Given the description of an element on the screen output the (x, y) to click on. 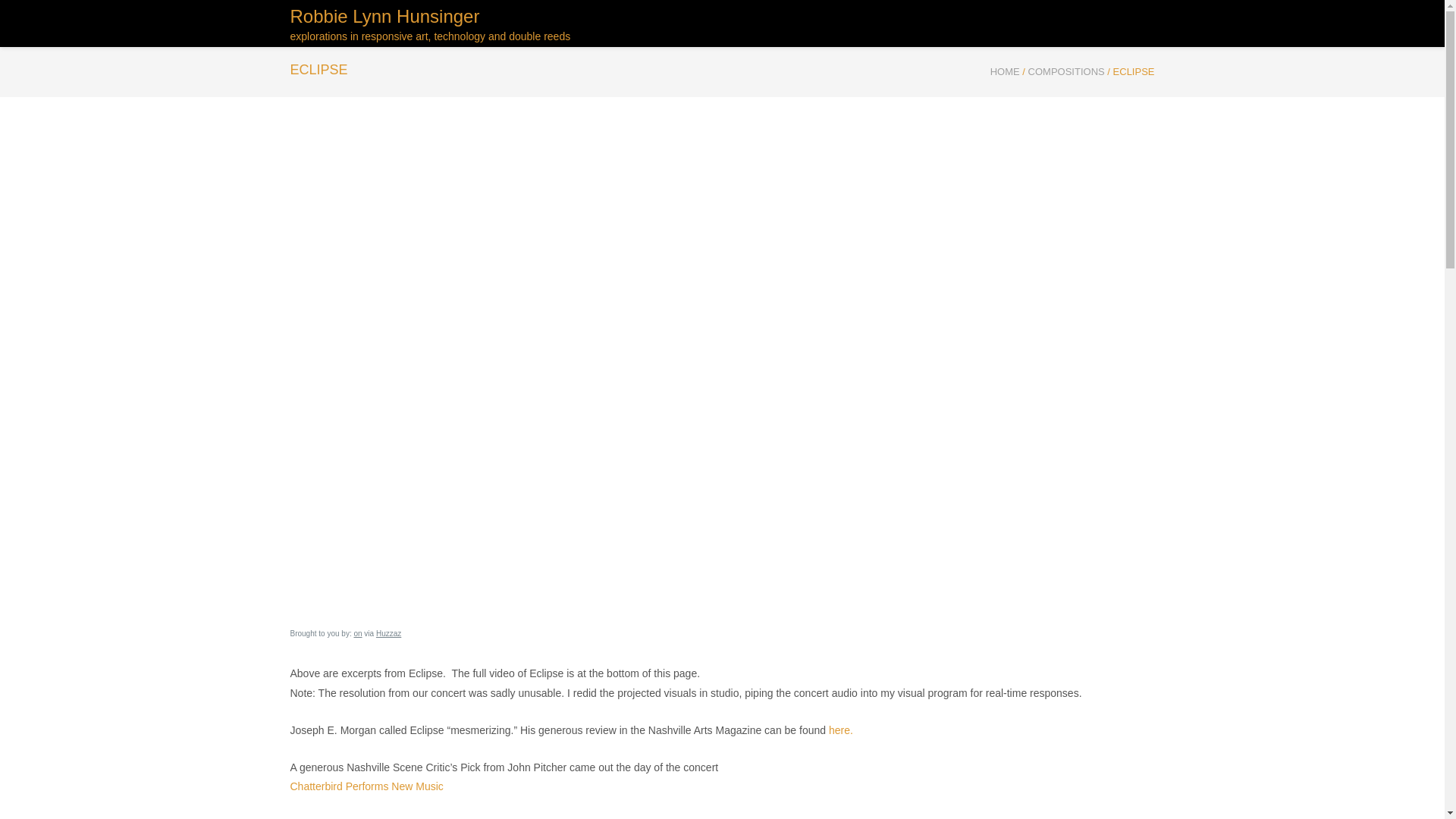
Compositions (1066, 71)
Robbie Lynn Hunsinger (429, 24)
here. (840, 729)
Huzzaz (388, 633)
on (357, 633)
Chatterbird Performs New Music (365, 786)
Robbie Lynn Hunsinger (1005, 71)
COMPOSITIONS (1066, 71)
HOME (1005, 71)
